Given the description of an element on the screen output the (x, y) to click on. 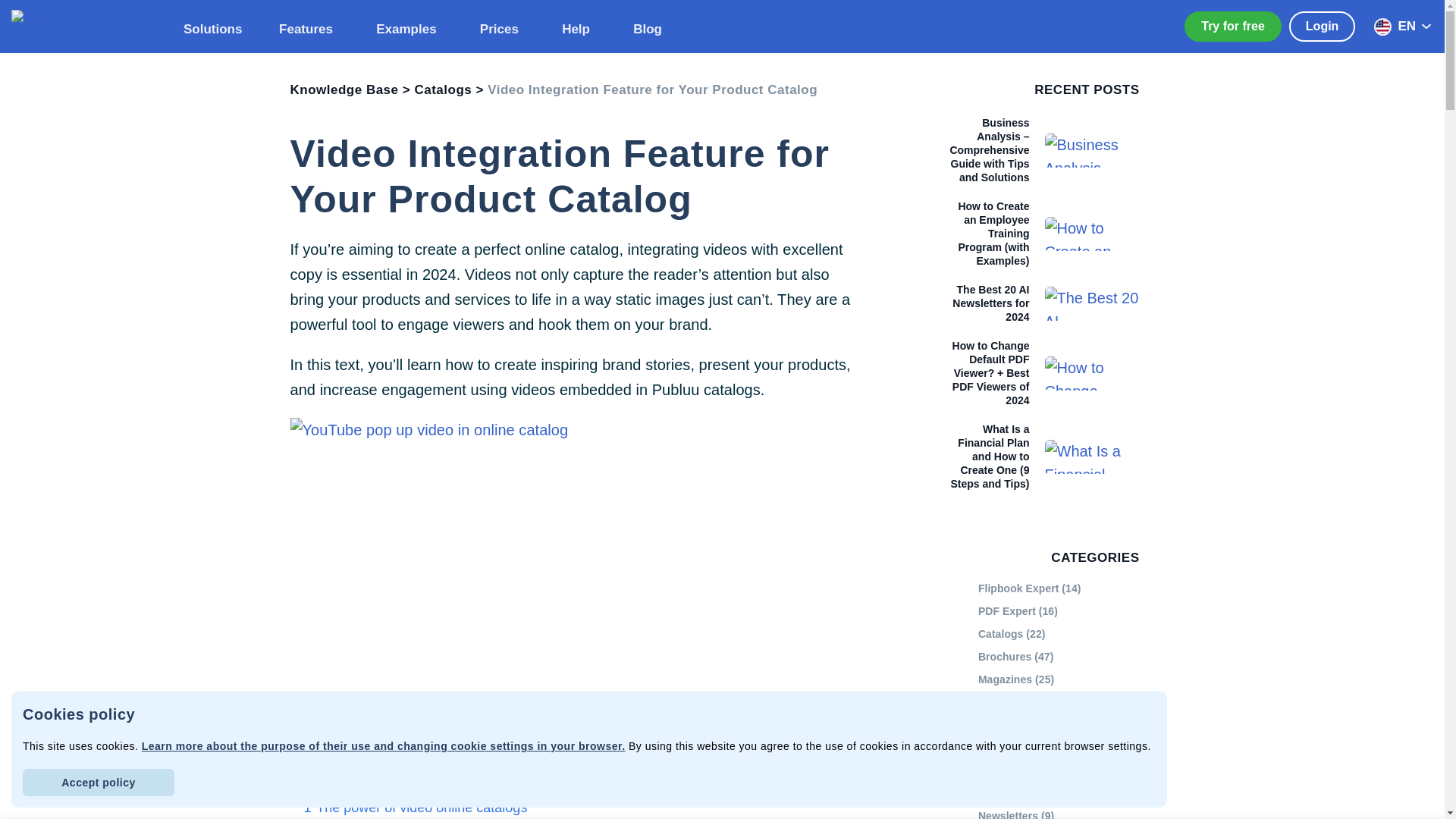
Blog (663, 28)
Try for free (1233, 26)
Help (591, 28)
Examples (420, 28)
Features (320, 28)
Prices (514, 28)
Solutions (221, 34)
Login (1321, 26)
Publuu (71, 28)
